Given the description of an element on the screen output the (x, y) to click on. 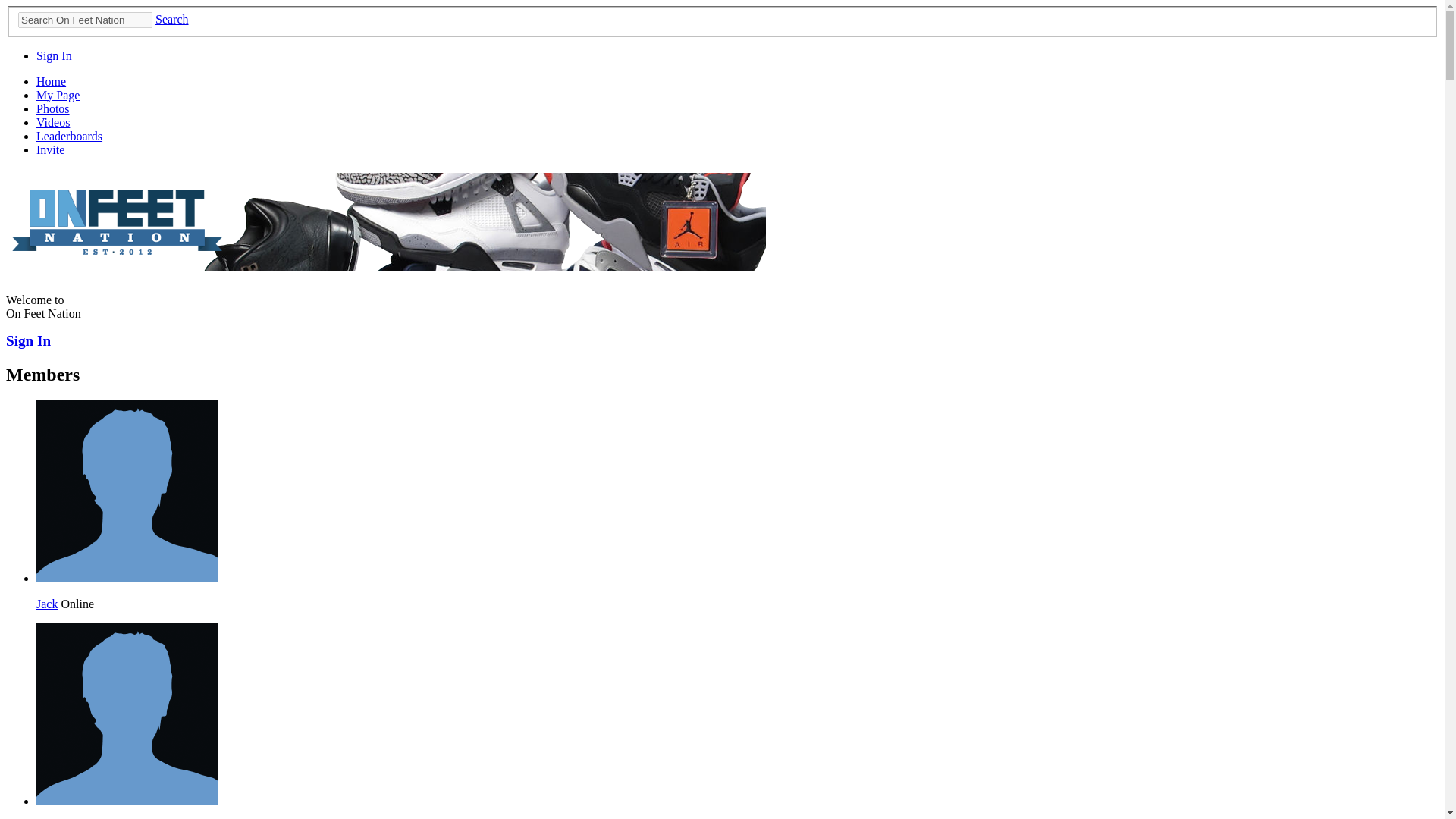
Jack (127, 577)
Leaderboards (68, 135)
Photos (52, 108)
Videos (52, 122)
Search (172, 19)
Richard (127, 800)
Invite (50, 149)
Sign In (53, 55)
Search On Feet Nation (84, 19)
Sign In (27, 340)
Jack (47, 603)
Search On Feet Nation (84, 19)
My Page (58, 94)
Home (50, 81)
